Given the description of an element on the screen output the (x, y) to click on. 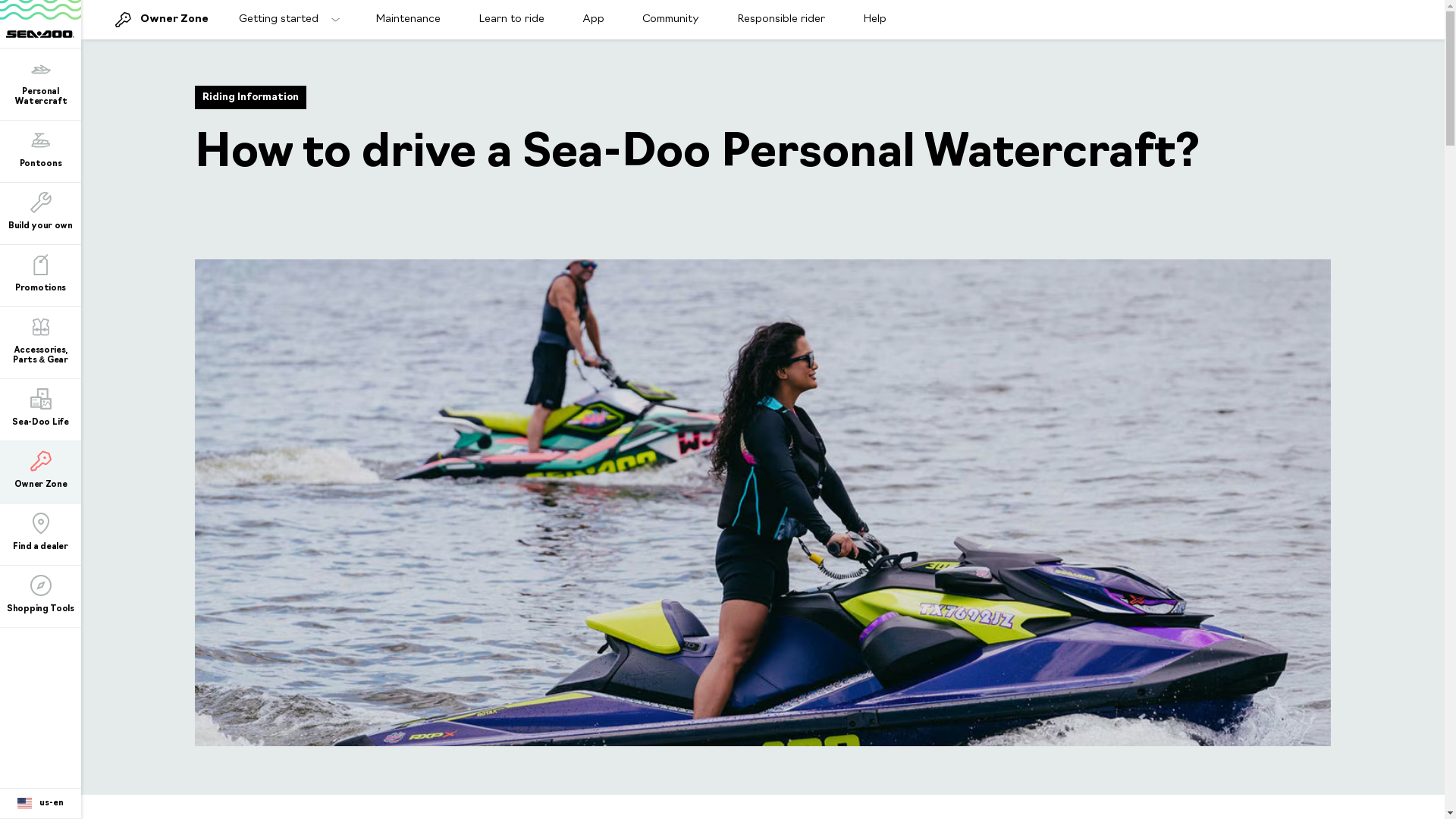
Personal Watercraft (40, 83)
Getting started (287, 19)
Community (670, 19)
Owner Zone (150, 19)
Promotions (40, 275)
Learn to ride (511, 19)
Pontoons (40, 150)
Help (874, 19)
Build your own (40, 213)
